Given the description of an element on the screen output the (x, y) to click on. 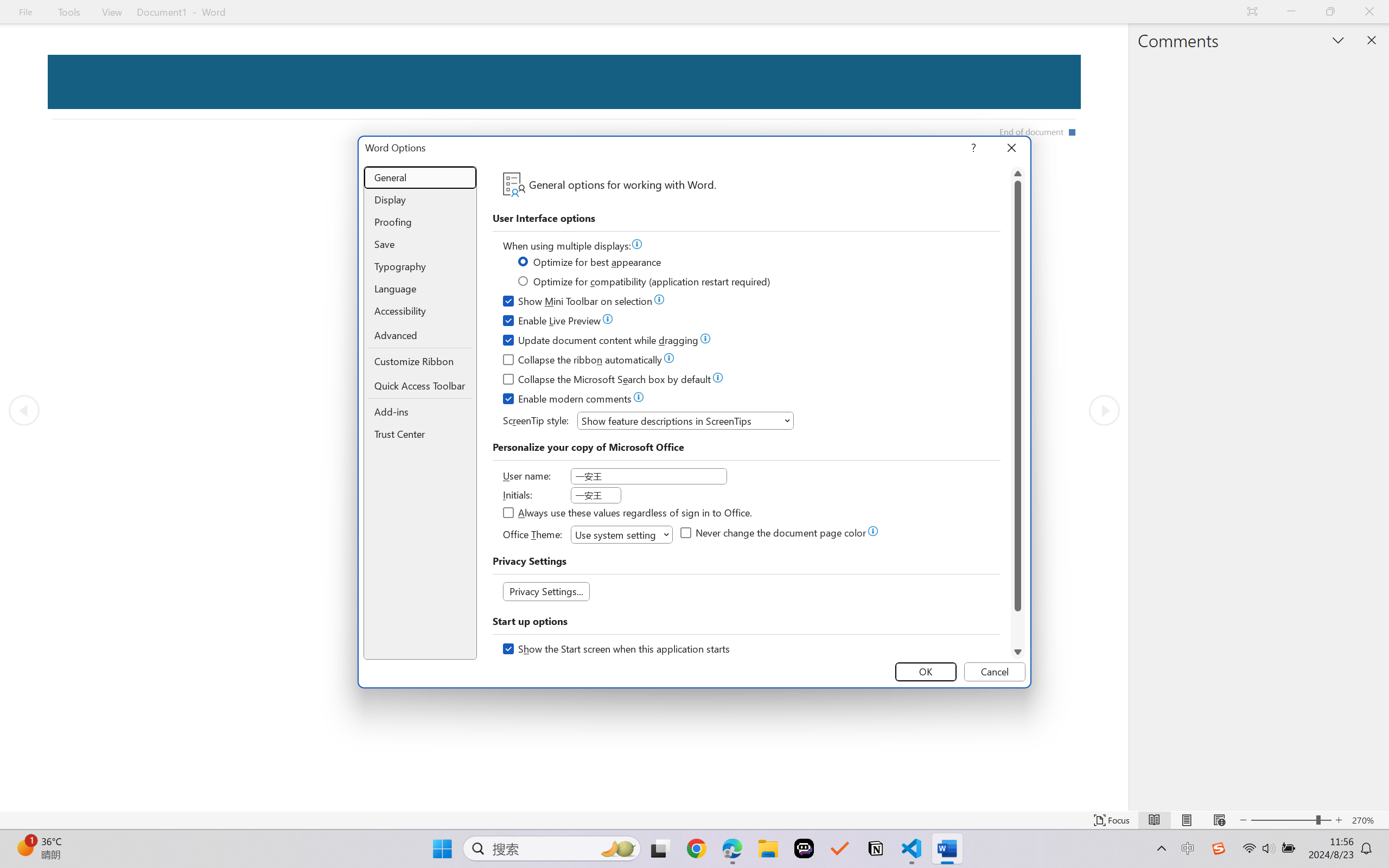
Initials (595, 494)
Line up (1018, 173)
Show the Start screen when this application starts (617, 650)
Accessibility (419, 311)
